Given the description of an element on the screen output the (x, y) to click on. 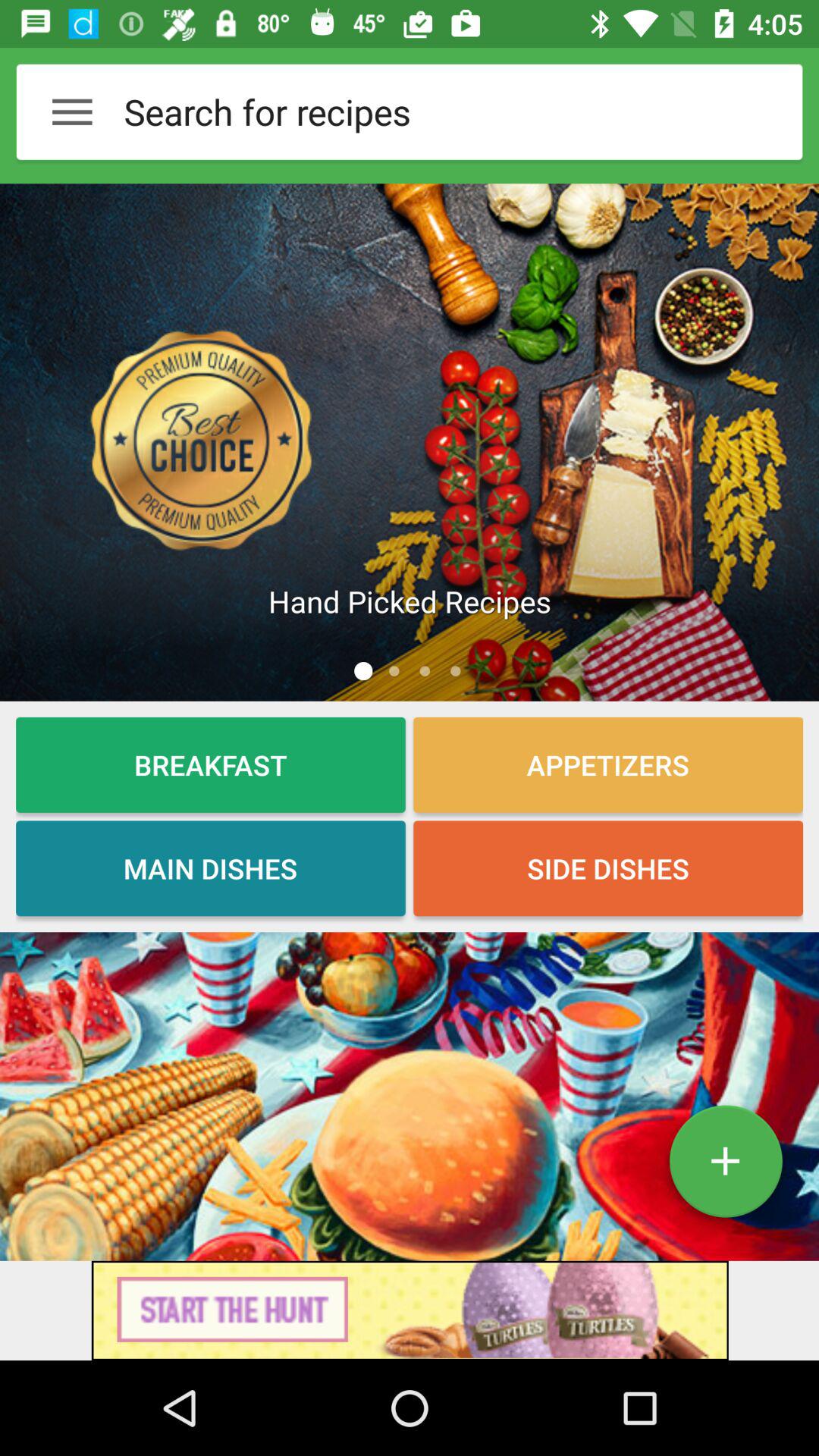
add dish (725, 1167)
